Given the description of an element on the screen output the (x, y) to click on. 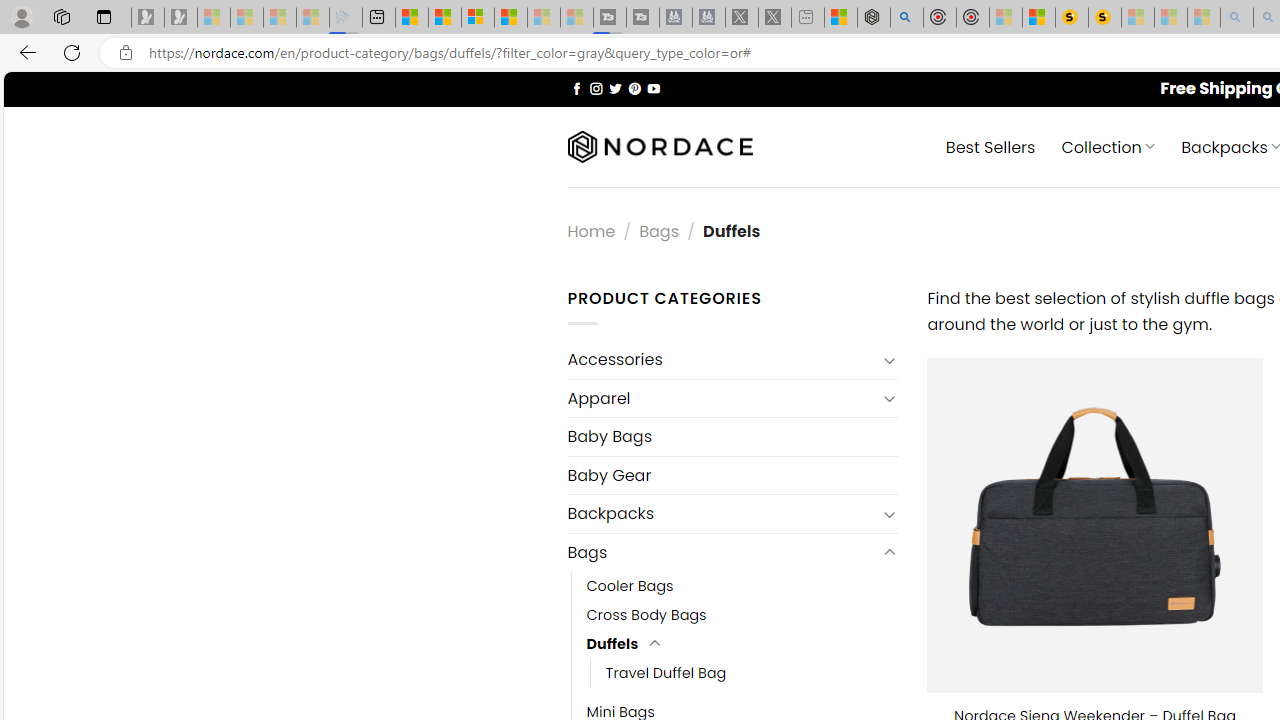
Bags (721, 552)
X - Sleeping (775, 17)
Home (591, 230)
Overview (478, 17)
Cross Body Bags (646, 614)
Newsletter Sign Up - Sleeping (181, 17)
